Given the description of an element on the screen output the (x, y) to click on. 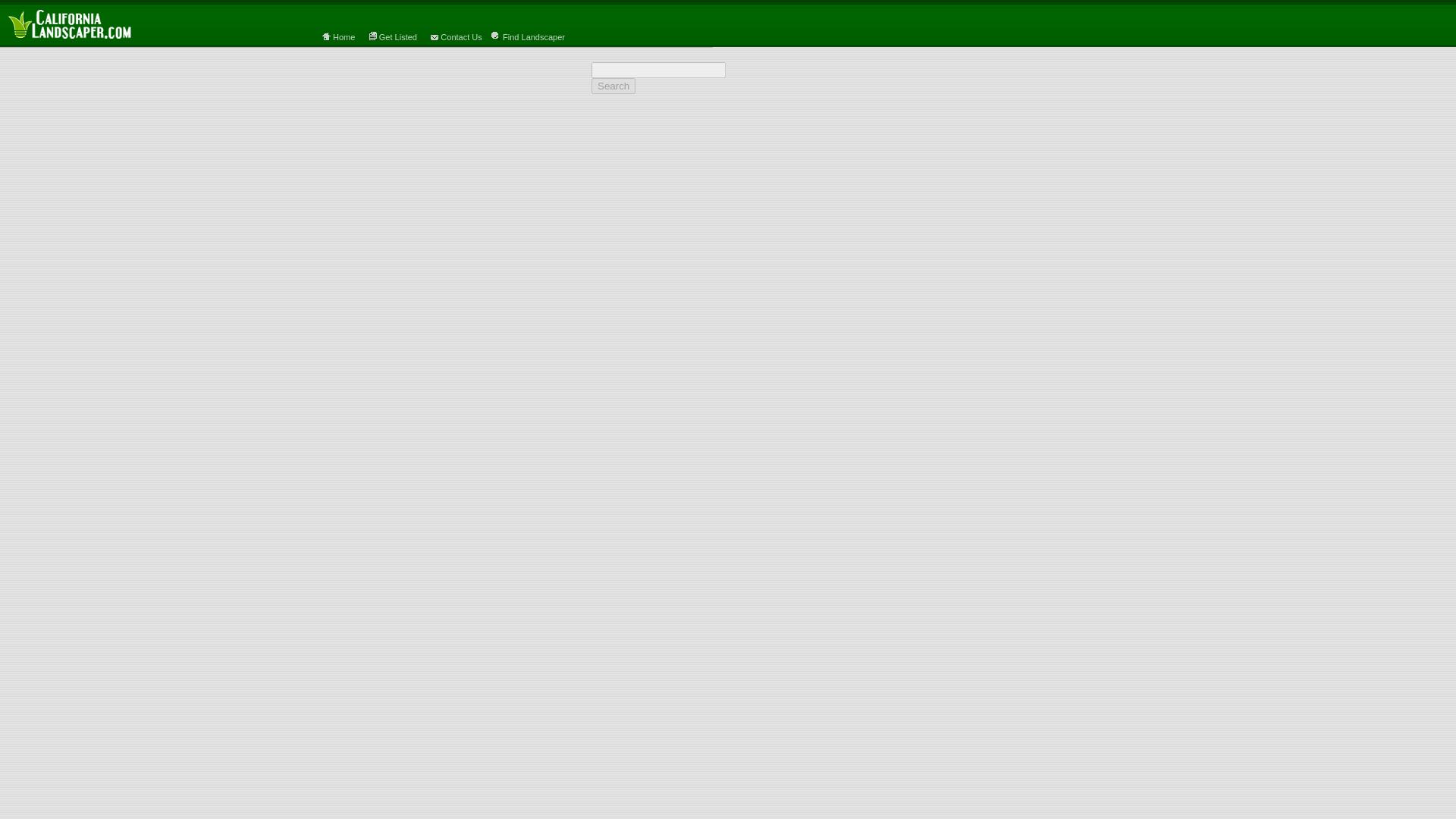
Find Landscaper (532, 36)
Contact Us (461, 36)
Home (344, 36)
Search (612, 85)
Search (612, 85)
Get Listed (397, 36)
